Given the description of an element on the screen output the (x, y) to click on. 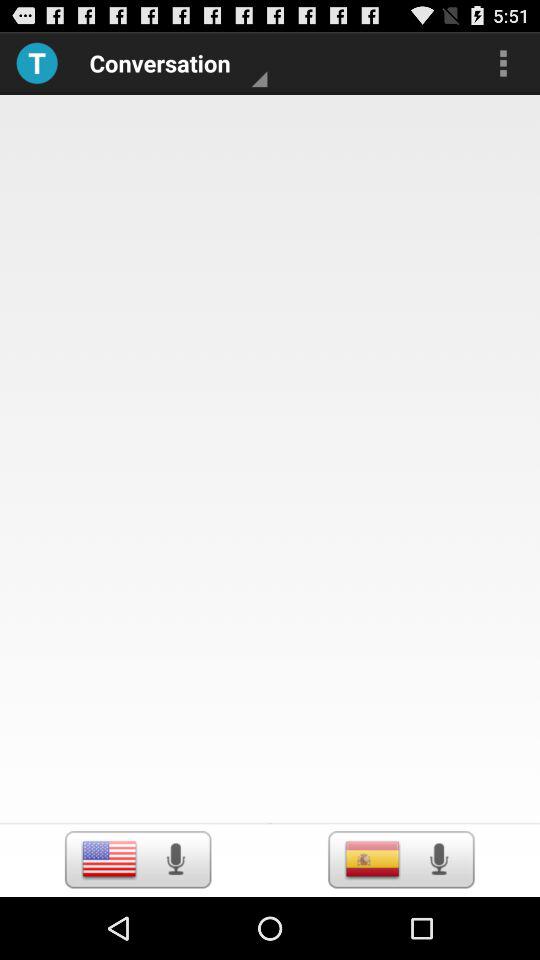
select langulage (372, 859)
